Given the description of an element on the screen output the (x, y) to click on. 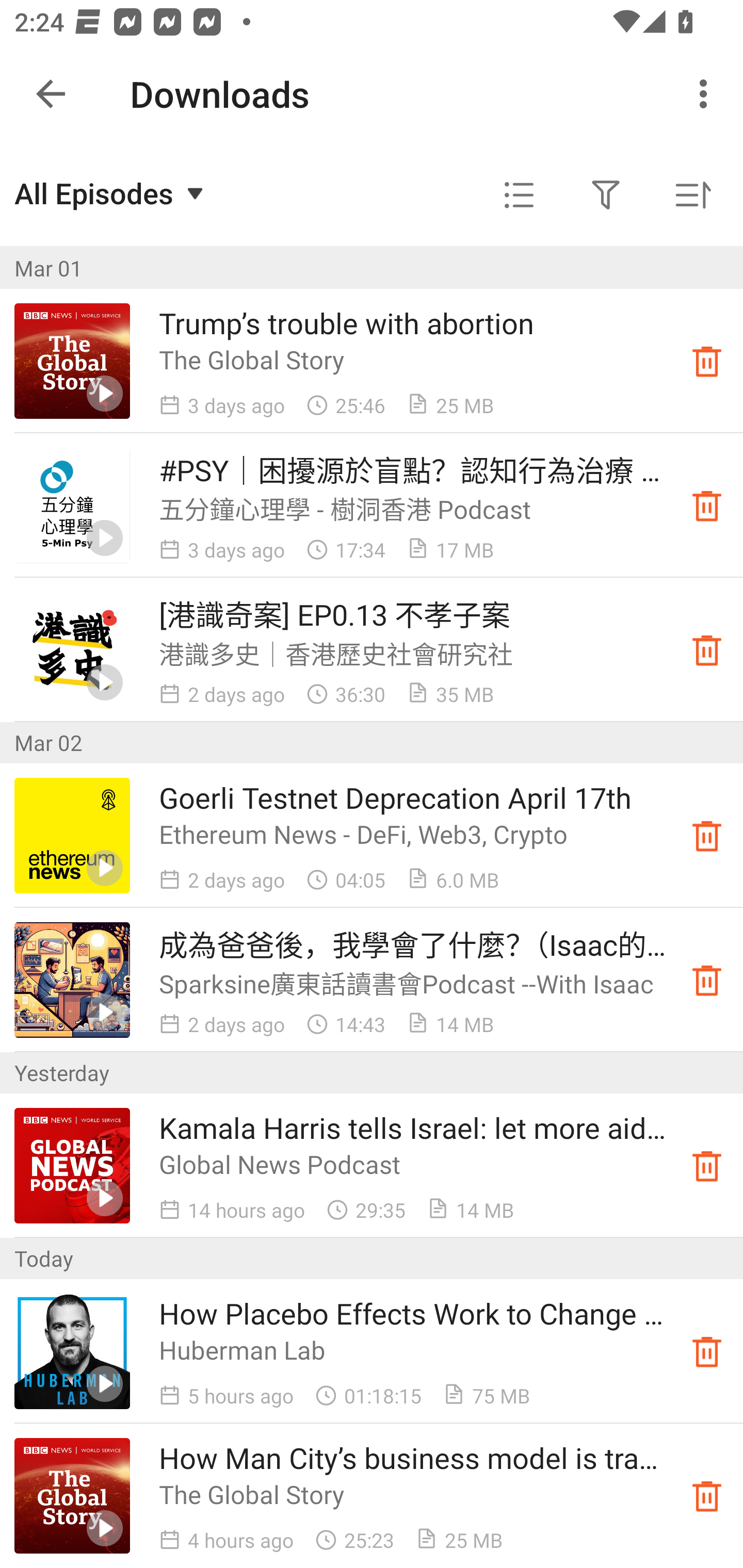
Navigate up (50, 93)
More options (706, 93)
All Episodes (111, 192)
 (518, 195)
 (605, 195)
 Sorted by oldest first (692, 195)
Downloaded (706, 360)
Downloaded (706, 505)
Downloaded (706, 649)
Downloaded (706, 835)
Downloaded (706, 979)
Downloaded (706, 1165)
Downloaded (706, 1351)
Downloaded (706, 1495)
